Given the description of an element on the screen output the (x, y) to click on. 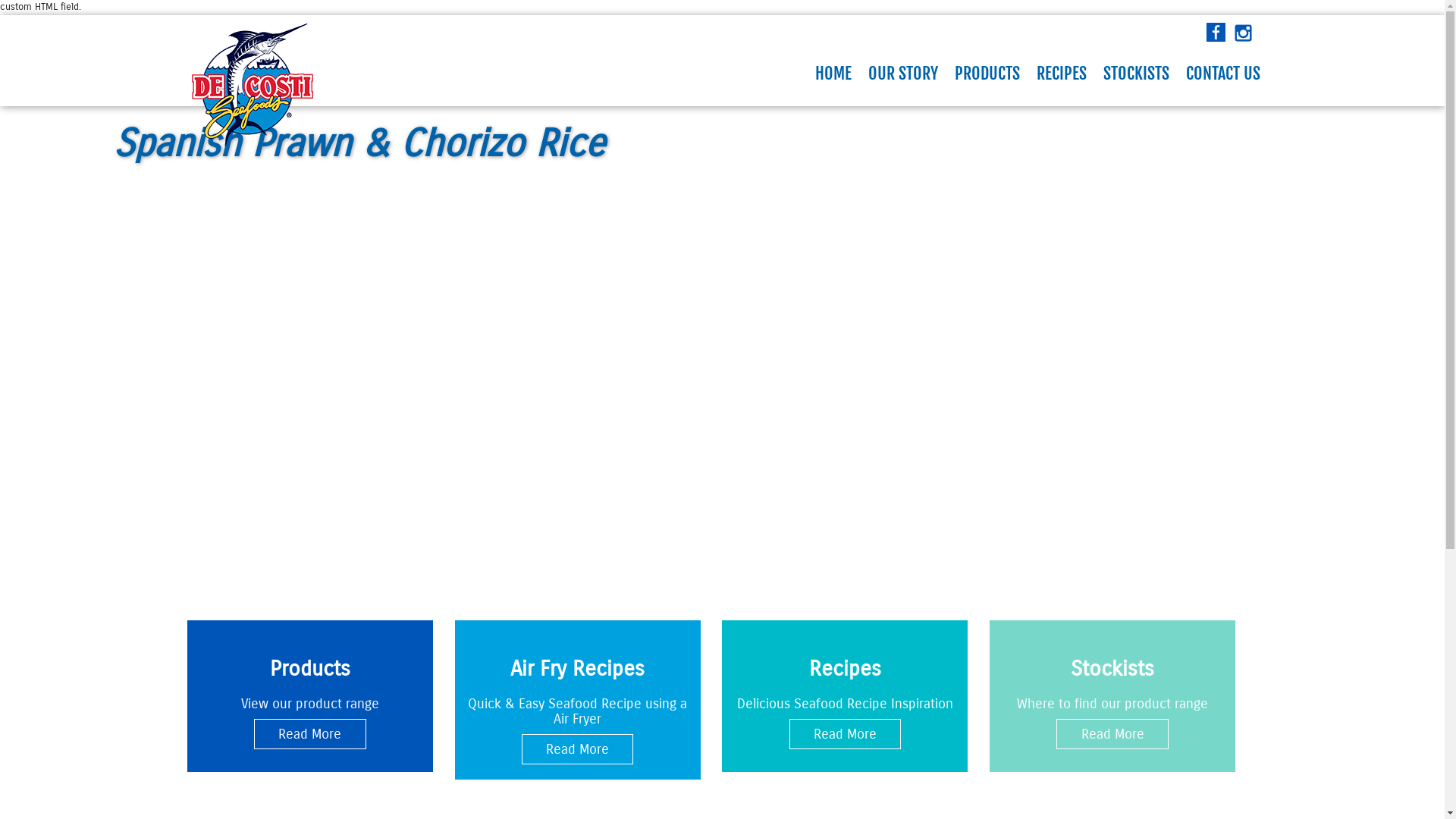
Decosti Seafoods Element type: hover (251, 84)
Products
View our product range
Read More Element type: text (310, 695)
CONTACT US Element type: text (1221, 73)
Recipes
Delicious Seafood Recipe Inspiration
Read More Element type: text (844, 695)
Stockists
Where to find our product range
Read More Element type: text (1112, 695)
OUR STORY Element type: text (902, 73)
PRODUCTS Element type: text (987, 73)
Spanish Prawn & Chorizo Rice Element type: text (722, 312)
RECIPES Element type: text (1061, 73)
STOCKISTS Element type: text (1136, 73)
HOME Element type: text (832, 73)
